Given the description of an element on the screen output the (x, y) to click on. 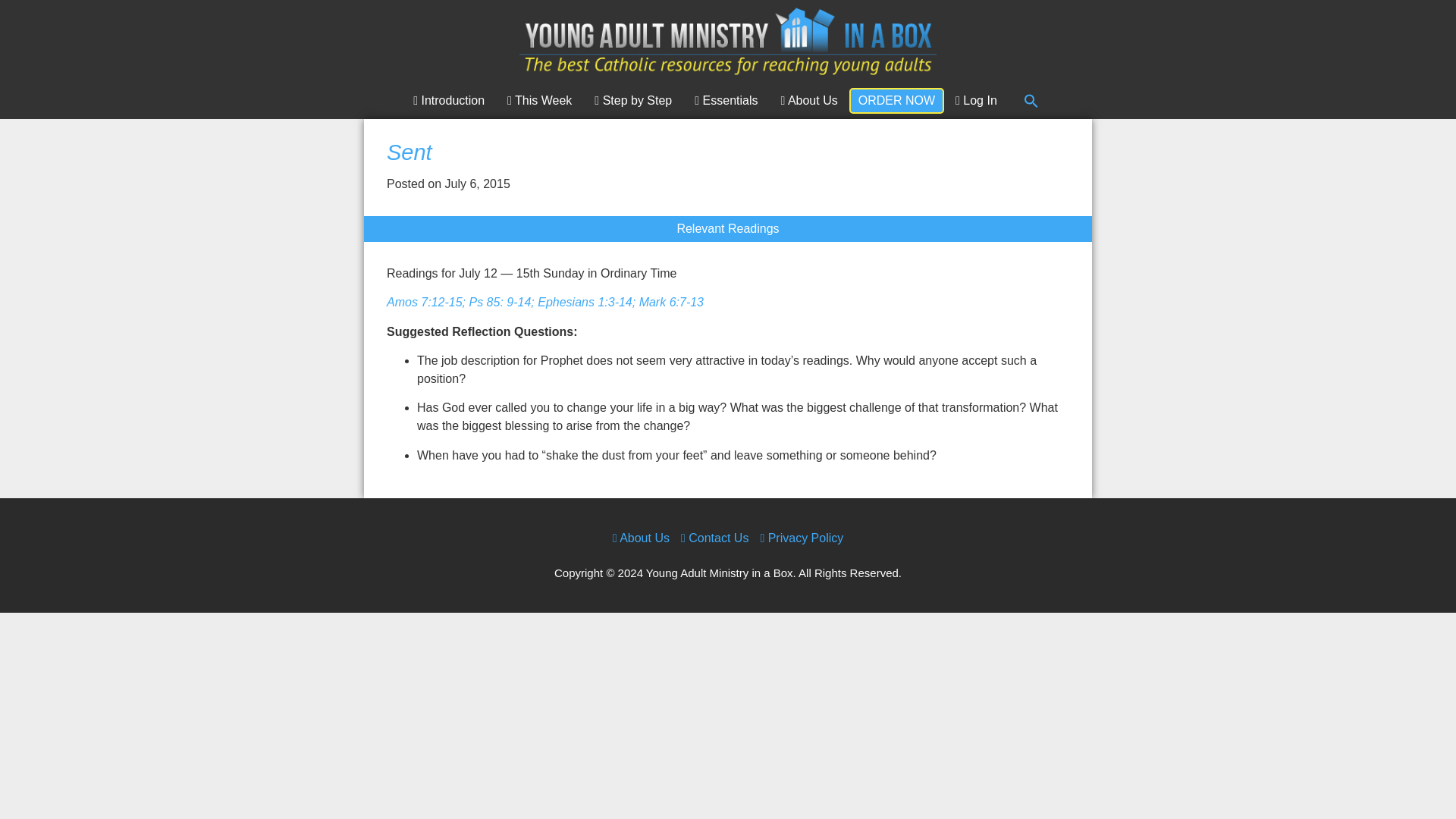
 Step by Step (632, 100)
ORDER NOW (895, 100)
 Introduction (448, 100)
 Log In (976, 100)
 This Week (539, 100)
 Essentials (725, 100)
 About Us (808, 100)
